Given the description of an element on the screen output the (x, y) to click on. 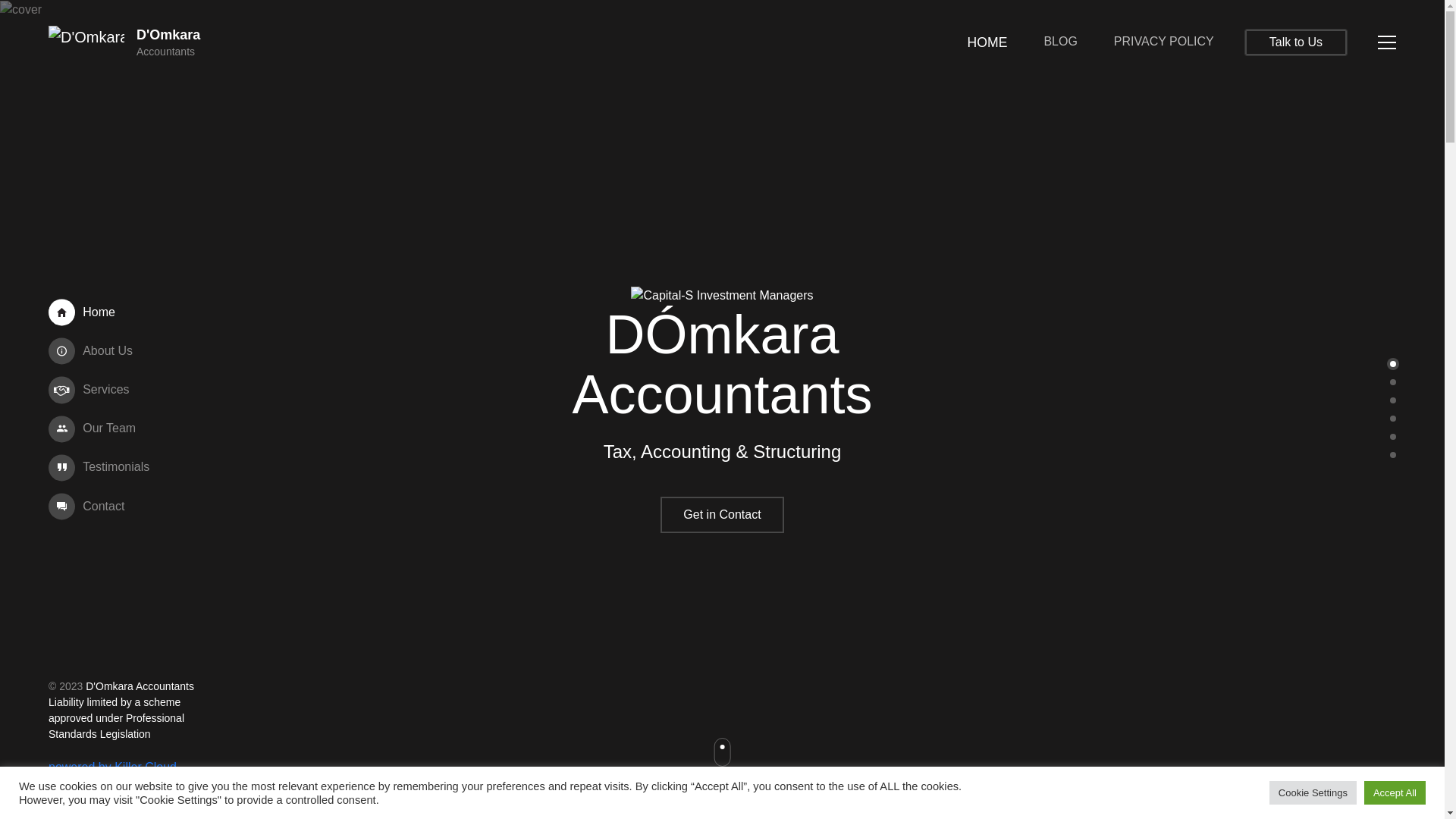
powered by Killer Cloud Element type: text (112, 766)
Accept All Element type: text (1394, 792)
Talk to Us Element type: text (1295, 42)
About Us Element type: text (101, 351)
Home Element type: text (101, 311)
D'Omkara
Accountants Element type: text (127, 42)
Contact Element type: text (101, 505)
Our Team Element type: text (101, 428)
HOME Element type: text (987, 42)
Cookie Settings Element type: text (1312, 792)
BLOG Element type: text (1059, 41)
Send message Element type: text (639, 615)
Services Element type: text (101, 389)
Testimonials Element type: text (101, 467)
Get in Contact Element type: text (721, 514)
PRIVACY POLICY Element type: text (1163, 41)
Scroll Down Element type: text (721, 762)
